Given the description of an element on the screen output the (x, y) to click on. 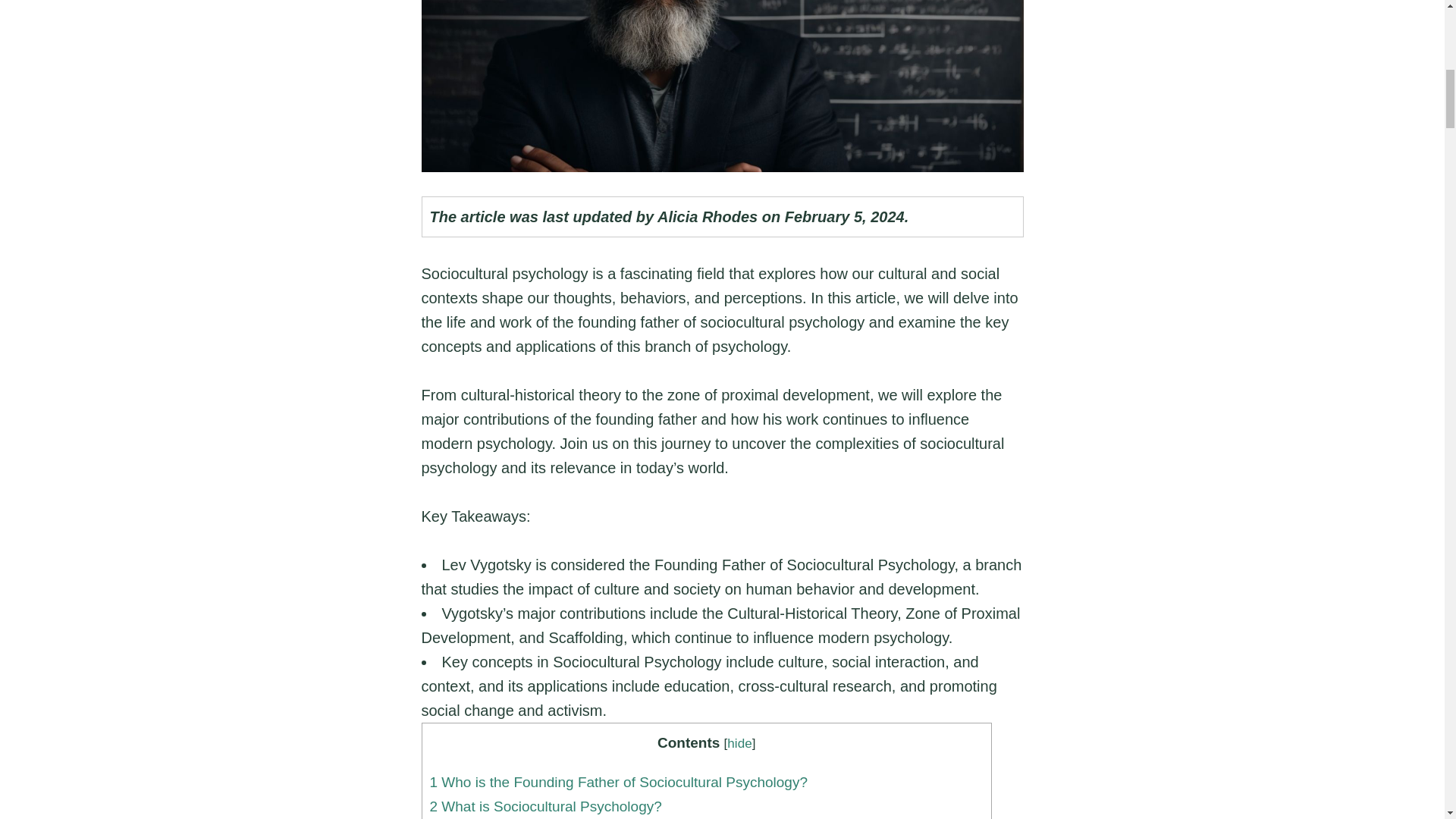
2 What is Sociocultural Psychology? (545, 806)
hide (738, 743)
1 Who is the Founding Father of Sociocultural Psychology? (618, 781)
